Given the description of an element on the screen output the (x, y) to click on. 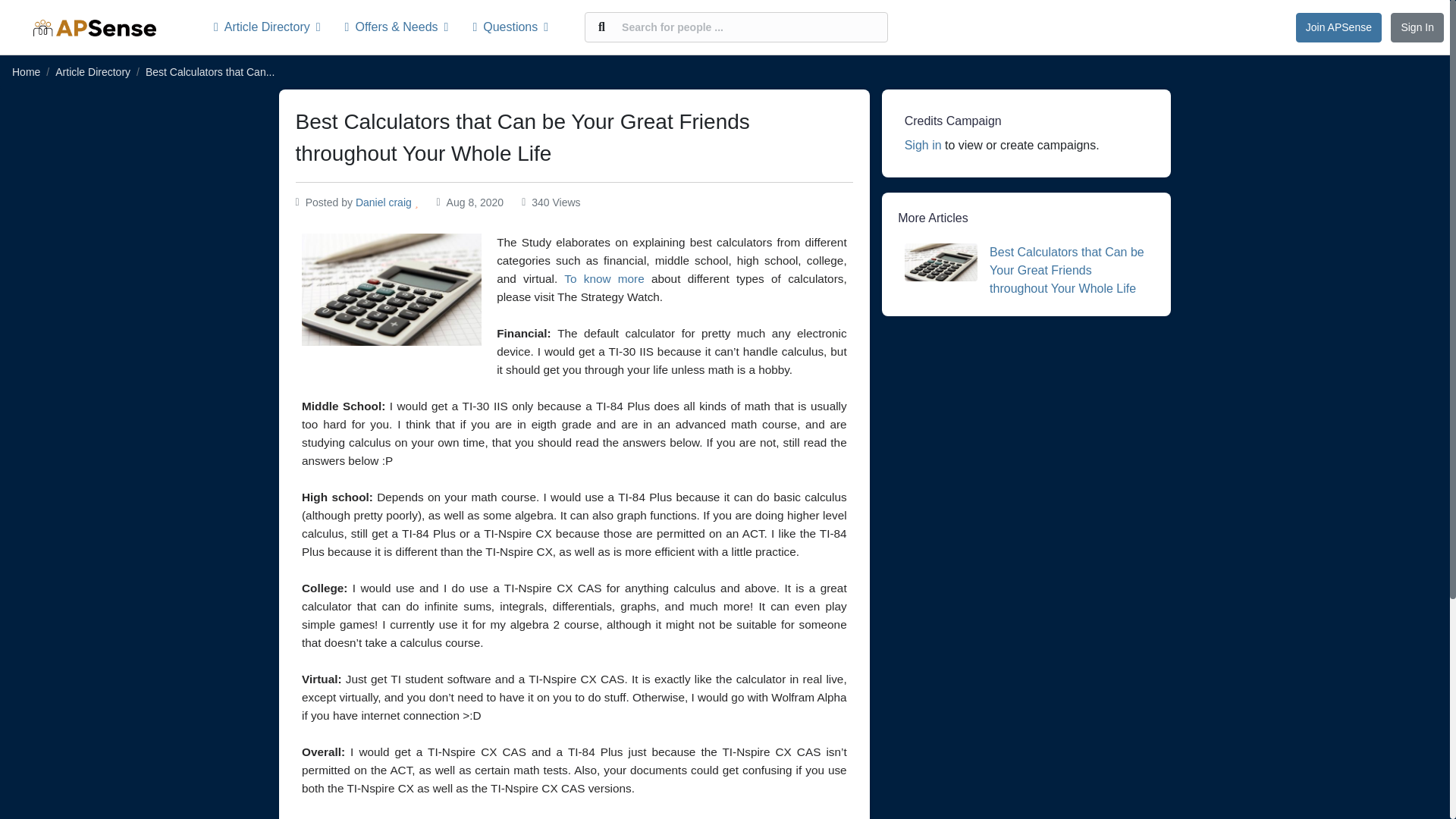
Article Directory (273, 27)
Home (25, 71)
To know more (604, 278)
Article Directory (93, 71)
Join APSense (1338, 27)
Sigh in (923, 144)
Daniel craig (383, 202)
Questions (510, 27)
Sign In (1417, 27)
